Given the description of an element on the screen output the (x, y) to click on. 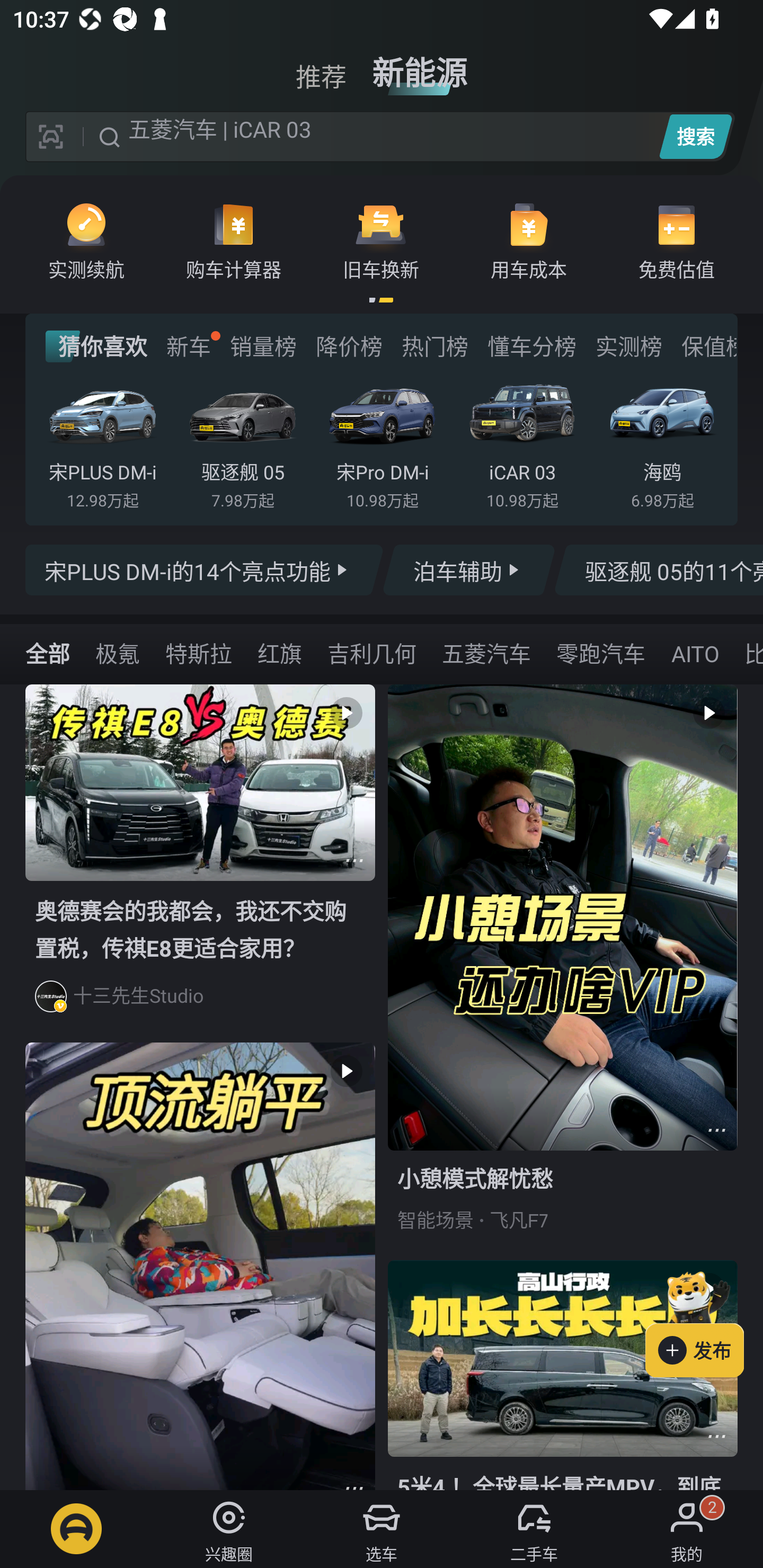
推荐 (321, 65)
新能源 (419, 65)
搜索 (695, 136)
实测续航 (86, 240)
购车计算器 (233, 240)
旧车换新 (380, 240)
用车成本 (528, 240)
免费估值 (676, 240)
猜你喜欢 (96, 346)
新车 (188, 346)
销量榜 (262, 346)
降价榜 (348, 346)
热门榜 (434, 346)
懂车分榜 (531, 346)
实测榜 (628, 346)
保值榜 (708, 346)
宋PLUS DM-i 12.98万起 (102, 442)
驱逐舰 05 7.98万起 (242, 442)
宋Pro DM-i 10.98万起 (382, 442)
iCAR 03 10.98万起 (522, 442)
海鸥 6.98万起 (662, 442)
宋PLUS DM-i的14个亮点功能 (204, 569)
泊车辅助 (468, 569)
驱逐舰 05的11个亮点功能 (658, 569)
全部 (47, 652)
极氪 (117, 652)
特斯拉 (198, 652)
红旗 (279, 652)
吉利几何 (371, 652)
五菱汽车 (485, 652)
零跑汽车 (600, 652)
AITO (694, 652)
  奥德赛会的我都会，我还不交购置税，传祺E8更适合家用？ 十三先生Studio (200, 862)
  小憩模式解忧愁 智能场景 飞凡F7 (562, 971)
 (354, 860)
  (200, 1265)
 (716, 1130)
飞凡F7 (518, 1220)
  5米4 ！全球最长量产MPV，到底好不好开？ (562, 1374)
发布 (704, 1320)
 (716, 1436)
 兴趣圈 (228, 1528)
 选车 (381, 1528)
 二手车 (533, 1528)
 我的 (686, 1528)
